Given the description of an element on the screen output the (x, y) to click on. 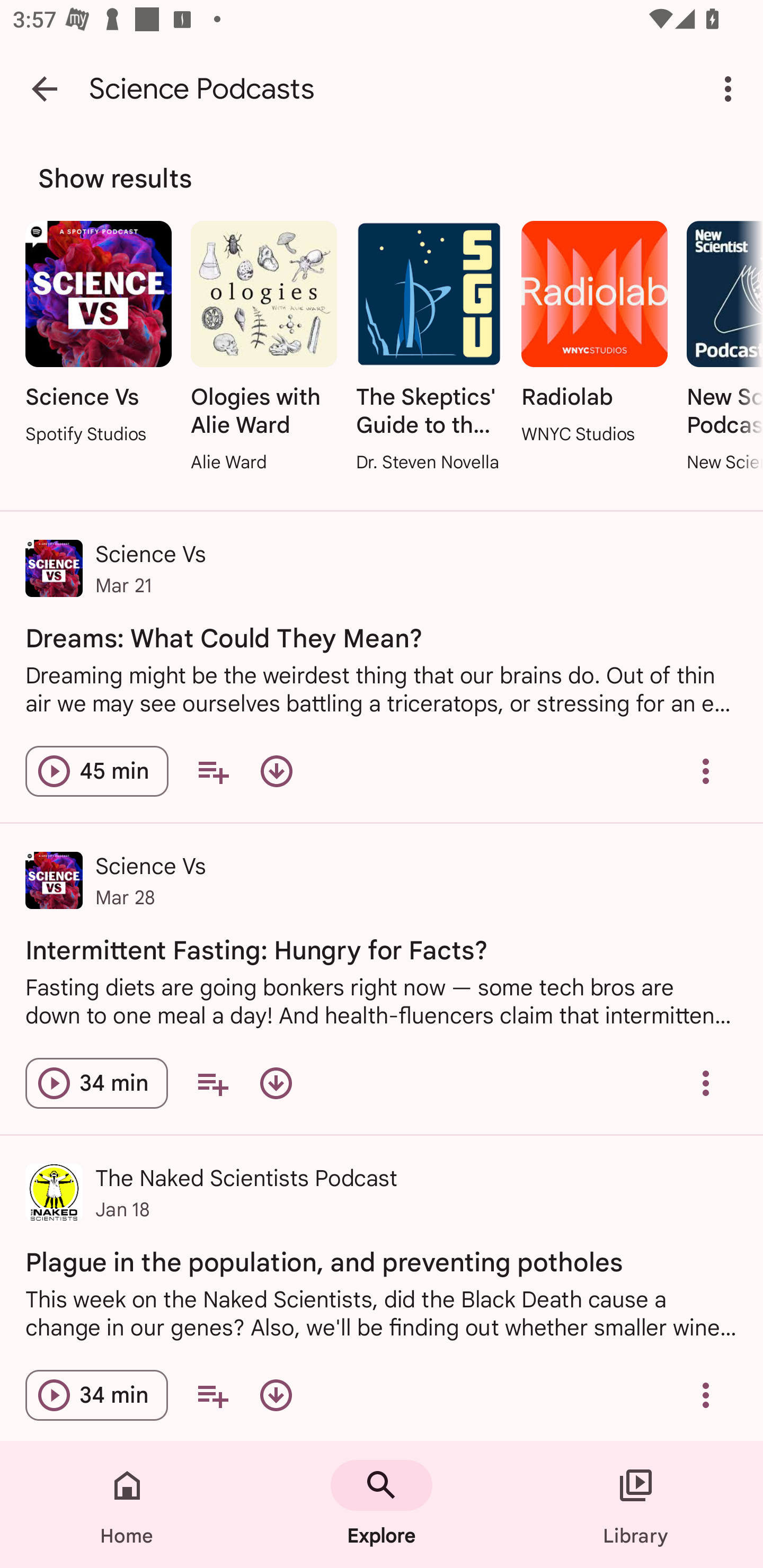
Navigate up Science Podcasts More options (381, 88)
Navigate up (44, 88)
More options (731, 88)
Science Vs Science Vs Spotify Studios (98, 333)
Radiolab Radiolab WNYC Studios (594, 333)
Play episode Dreams: What Could They Mean? 45 min (96, 771)
Add to your queue (212, 771)
Download episode (276, 771)
Overflow menu (705, 771)
Add to your queue (212, 1083)
Download episode (275, 1083)
Overflow menu (705, 1083)
Add to your queue (212, 1395)
Download episode (275, 1395)
Overflow menu (705, 1395)
Home (127, 1504)
Library (635, 1504)
